Given the description of an element on the screen output the (x, y) to click on. 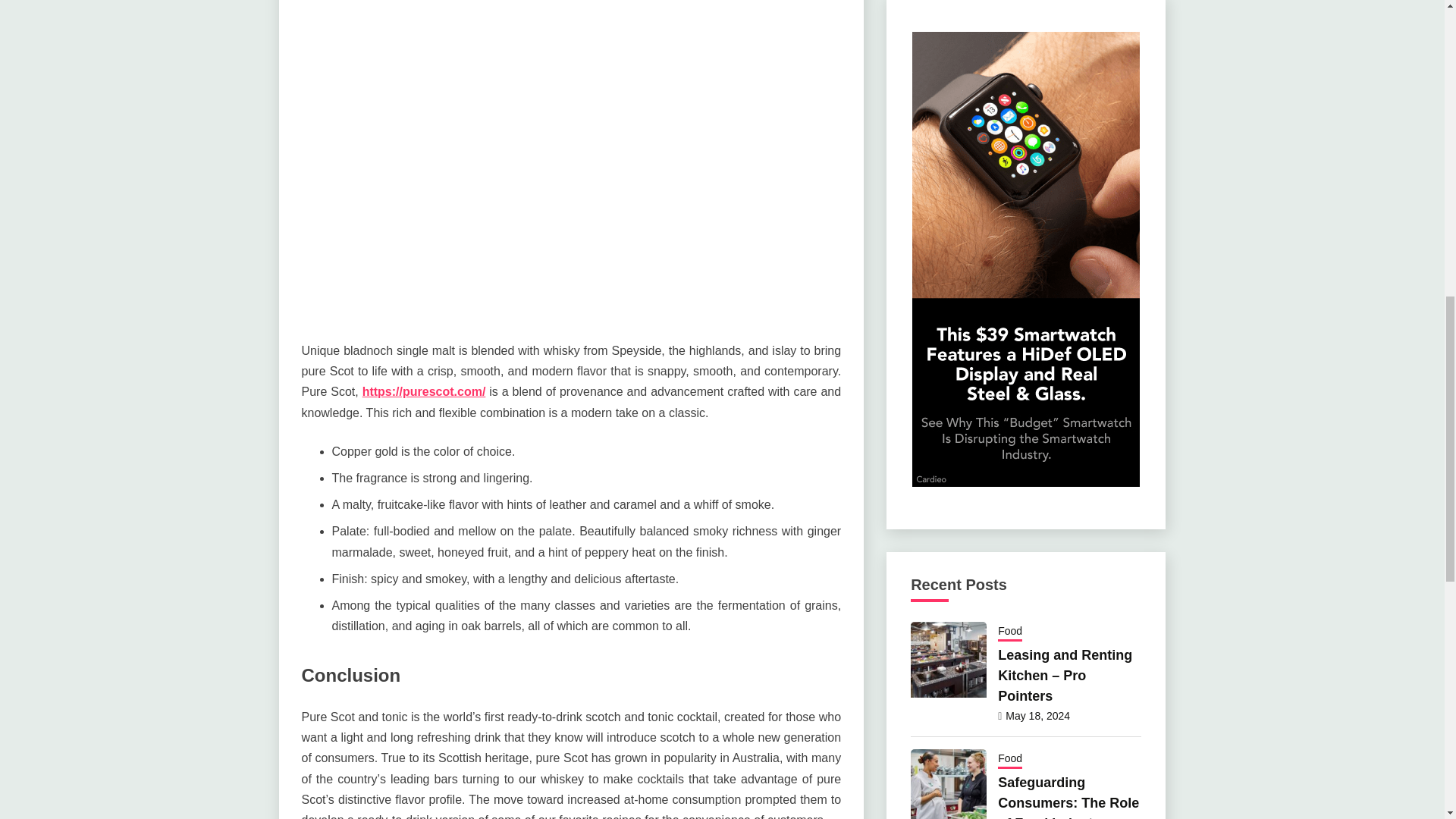
May 18, 2024 (1038, 715)
Food (1009, 632)
Food (1009, 760)
